Given the description of an element on the screen output the (x, y) to click on. 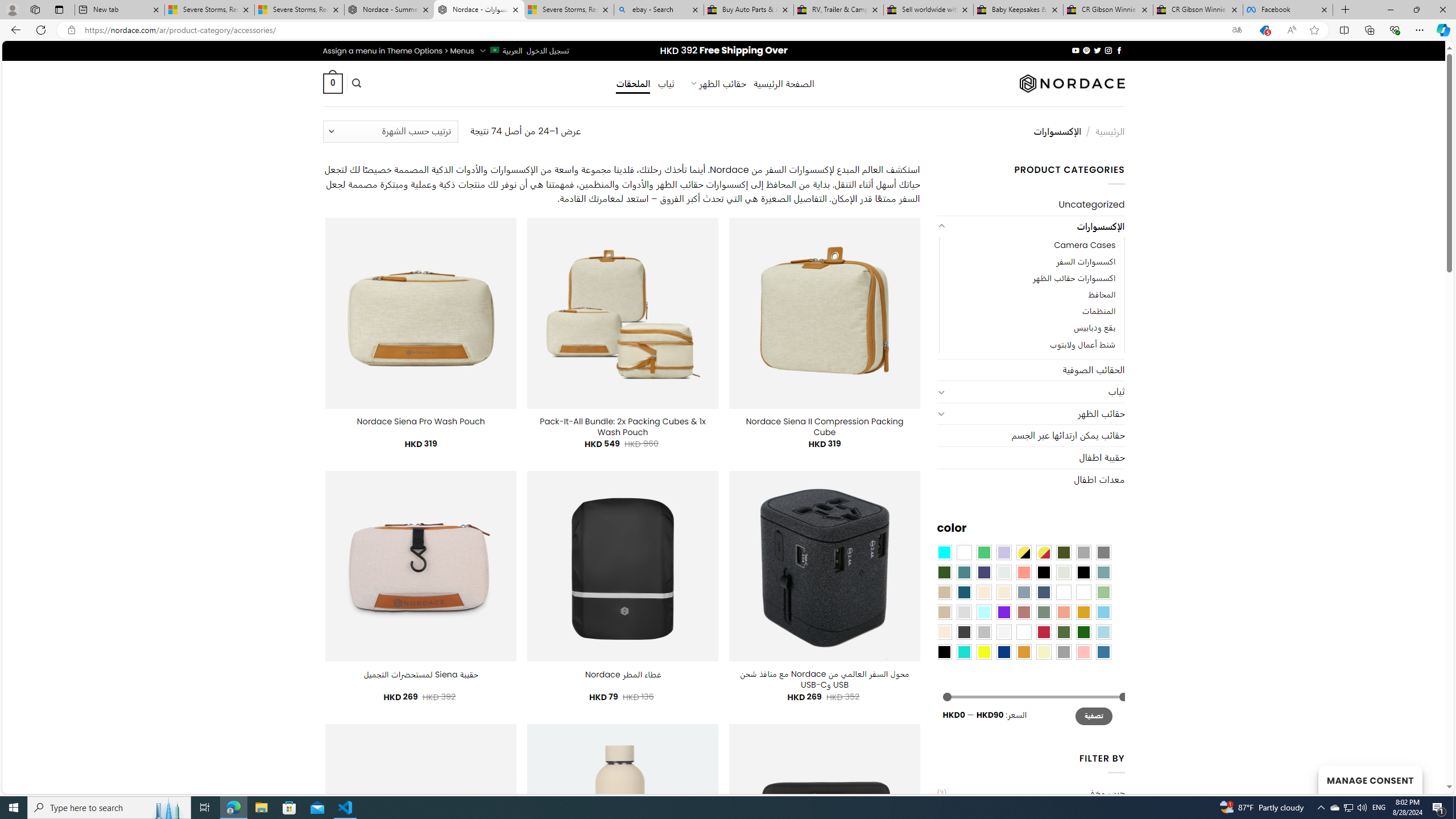
Read aloud this page (Ctrl+Shift+U) (1291, 29)
Baby Keepsakes & Announcements for sale | eBay (1018, 9)
Close (1442, 9)
Collections (1369, 29)
Sage (1043, 611)
Yellow-Red (1043, 551)
